Given the description of an element on the screen output the (x, y) to click on. 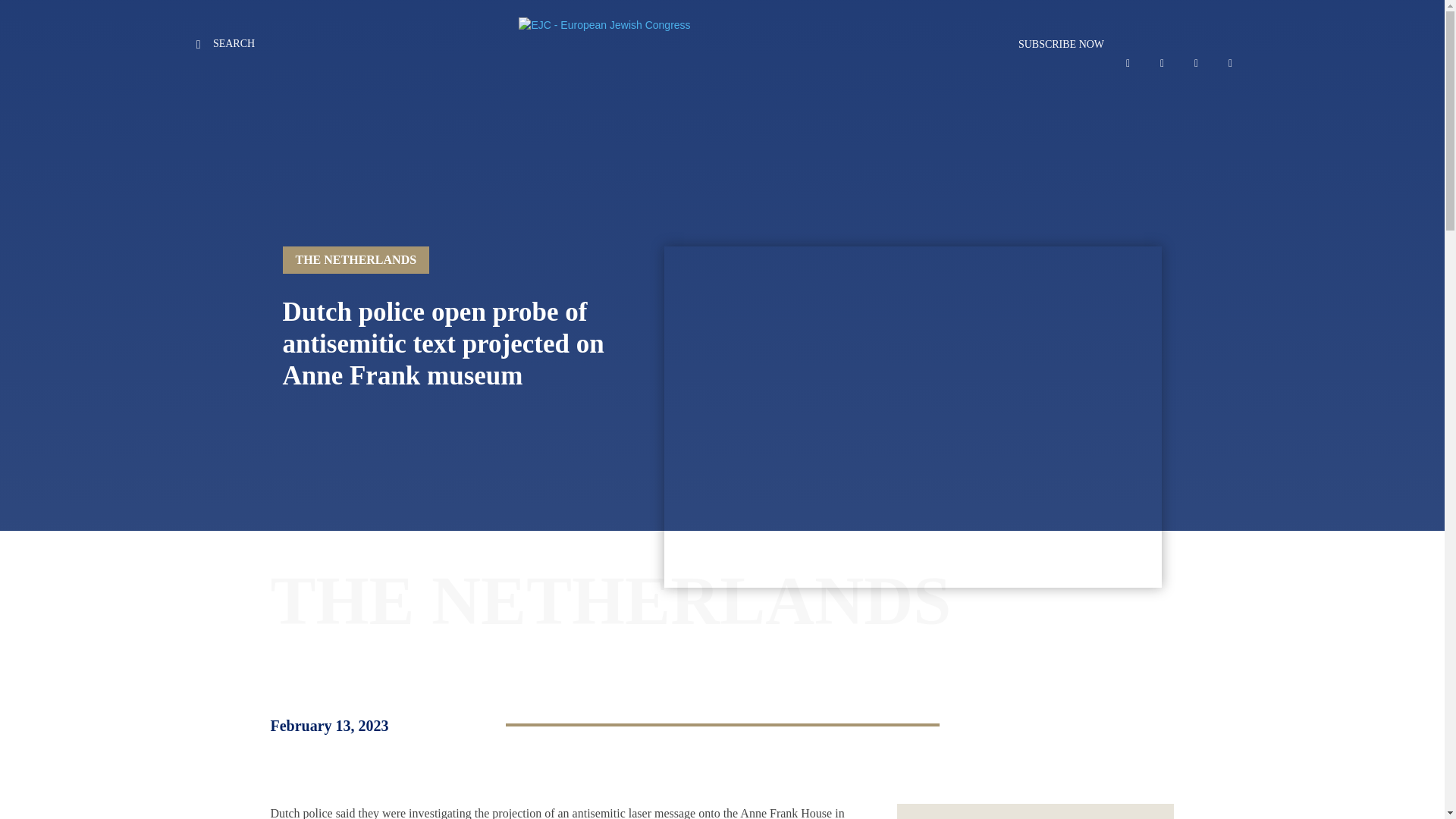
Youtube (1230, 62)
Facebook (1128, 62)
EJC - European Jewish Congress (700, 44)
Twitter (1195, 62)
EJC - European Jewish Congress (663, 44)
Instagram (1161, 62)
